Given the description of an element on the screen output the (x, y) to click on. 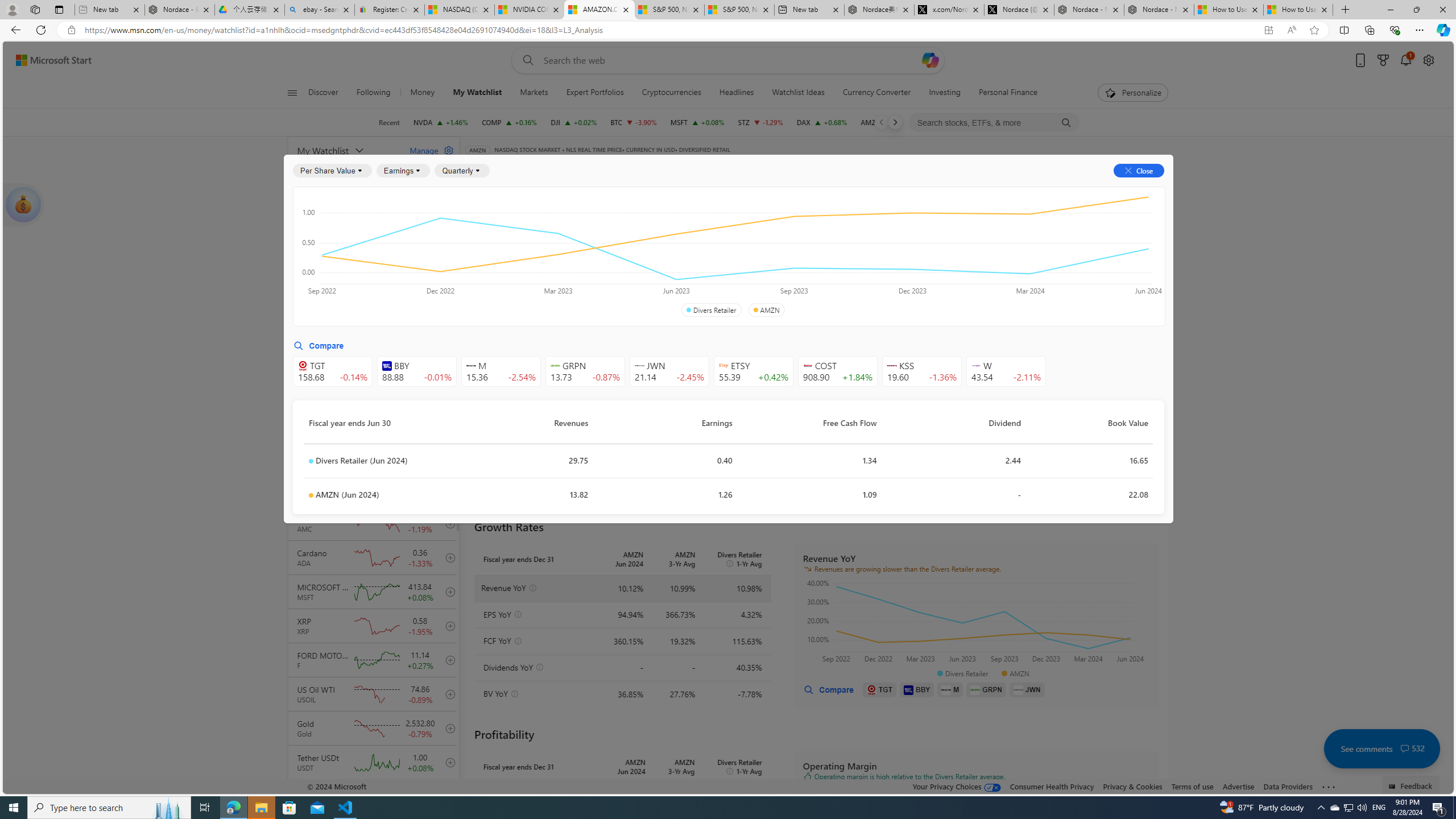
Restore (1416, 9)
Personal Finance (1003, 92)
Class: autoSuggestIcon-DS-EntryPoint1-2 (976, 365)
Class: button-glyph (292, 92)
Cryptocurrencies (671, 92)
COMP NASDAQ increase 17,754.82 +29.06 +0.16% (509, 122)
Advertise (1238, 786)
Web search (526, 60)
Per Share Value (331, 170)
BBY (916, 689)
Address and search bar (669, 29)
Data Providers (1288, 785)
Personal Finance (1008, 92)
Watchlist Ideas (798, 92)
